Given the description of an element on the screen output the (x, y) to click on. 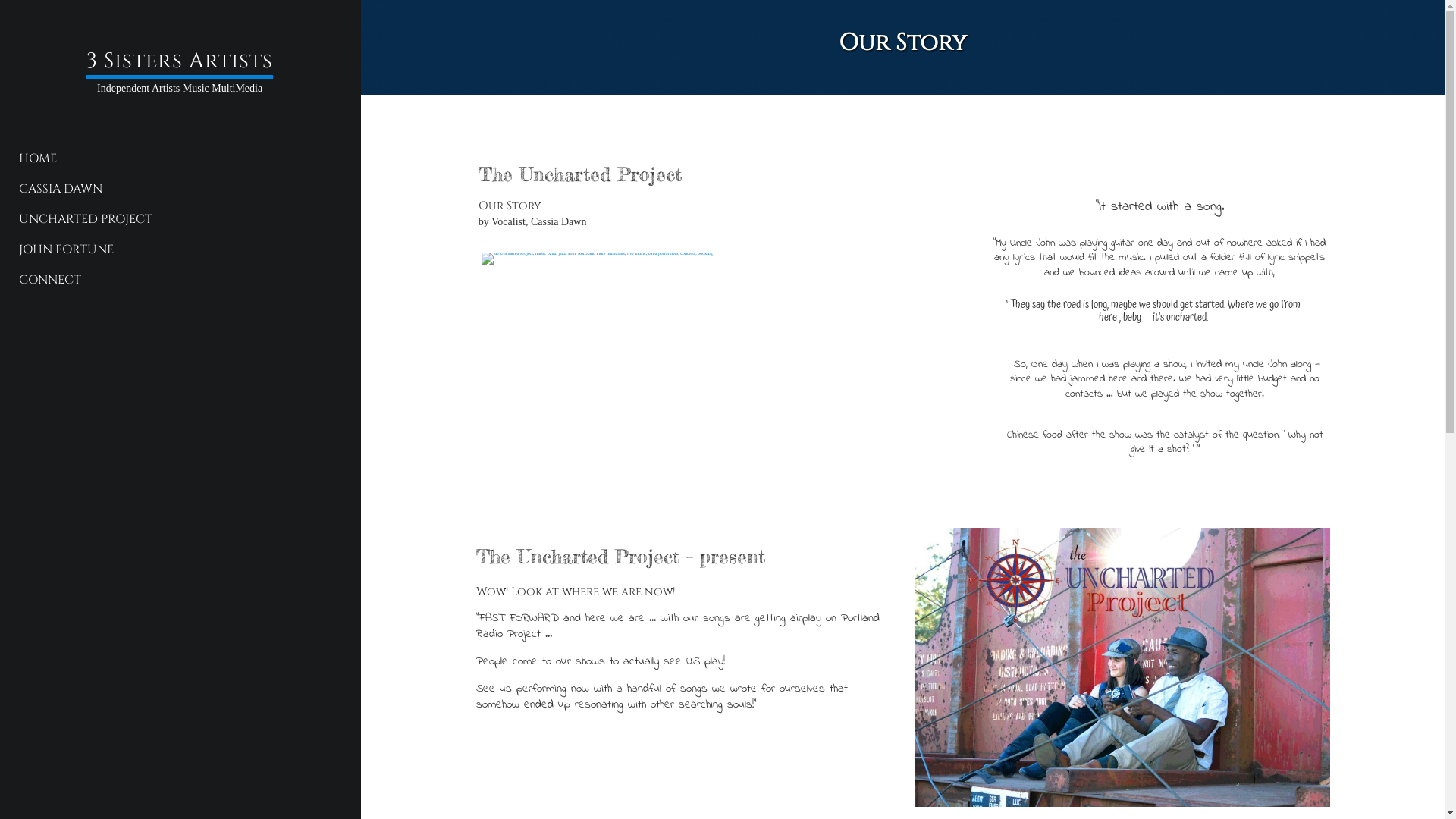
CONNECT Element type: text (174, 279)
CASSIA DAWN Element type: text (174, 188)
HOME Element type: text (174, 158)
Our Story Element type: text (902, 43)
UNCHARTED PROJECT Element type: text (174, 218)
JOHN FORTUNE Element type: text (174, 249)
3 Sisters Artists Element type: text (179, 62)
